Given the description of an element on the screen output the (x, y) to click on. 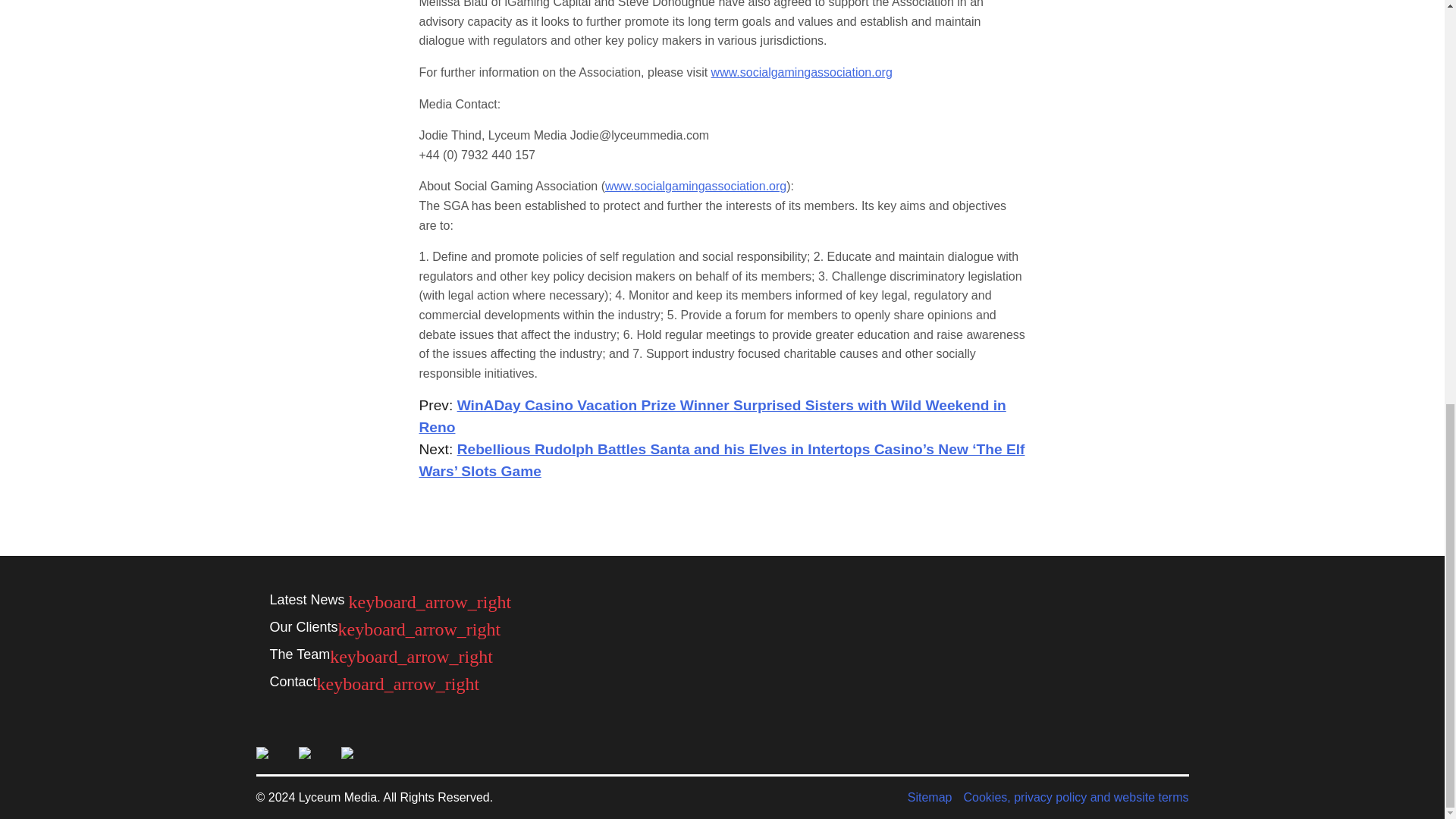
www.socialgamingassociation.org (695, 185)
www.socialgamingassociation.org (801, 72)
Sitemap (929, 797)
Cookies, privacy policy and website terms (1075, 797)
